Given the description of an element on the screen output the (x, y) to click on. 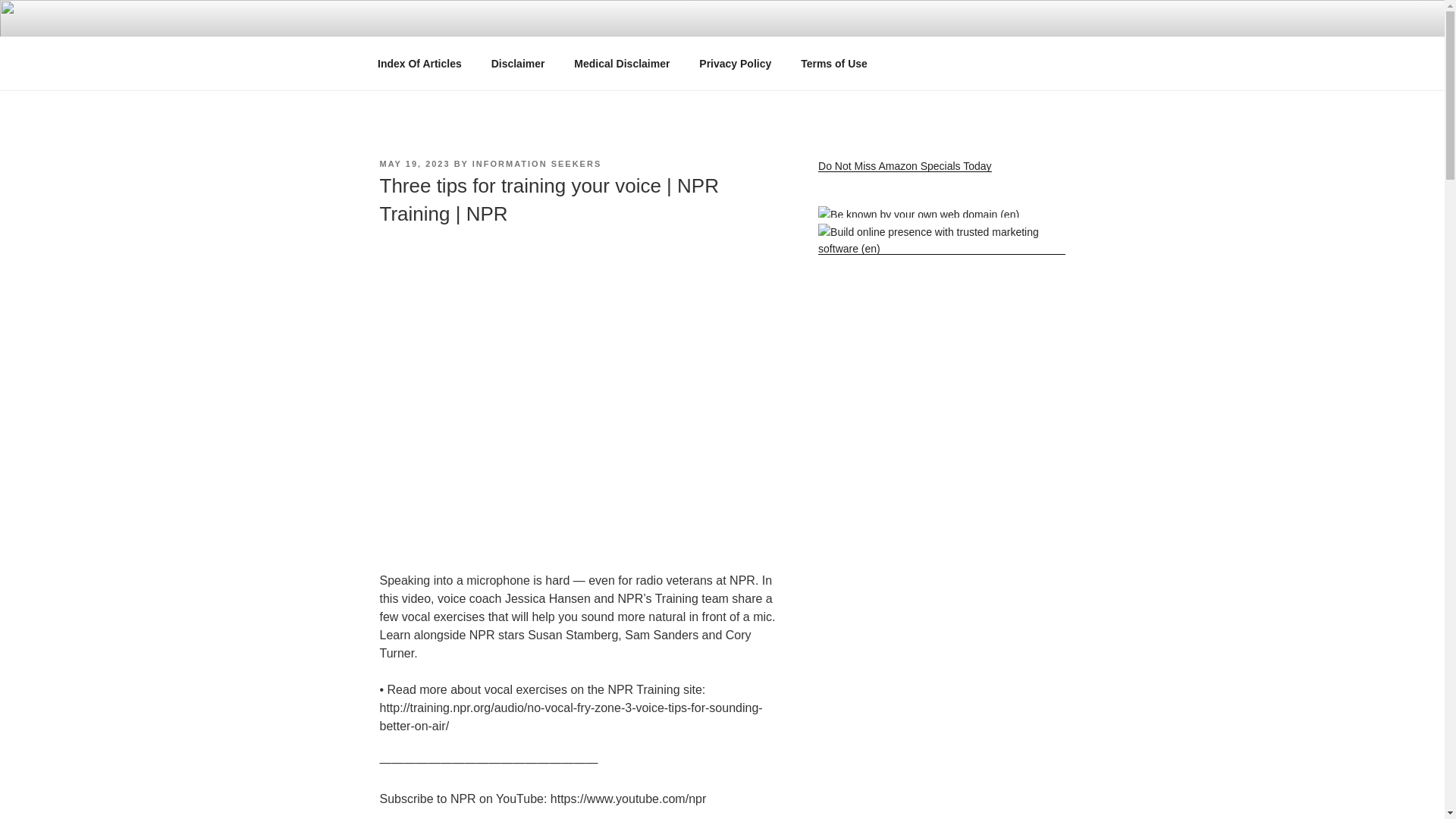
INFORMATION SEEKERS (536, 163)
Disclaimer (517, 63)
Privacy Policy (734, 63)
Terms of Use (833, 63)
MAY 19, 2023 (413, 163)
Do Not Miss Amazon Specials Today (904, 165)
Do Not Miss Amazon Specials Today (904, 165)
Index Of Articles (419, 63)
Medical Disclaimer (621, 63)
